Given the description of an element on the screen output the (x, y) to click on. 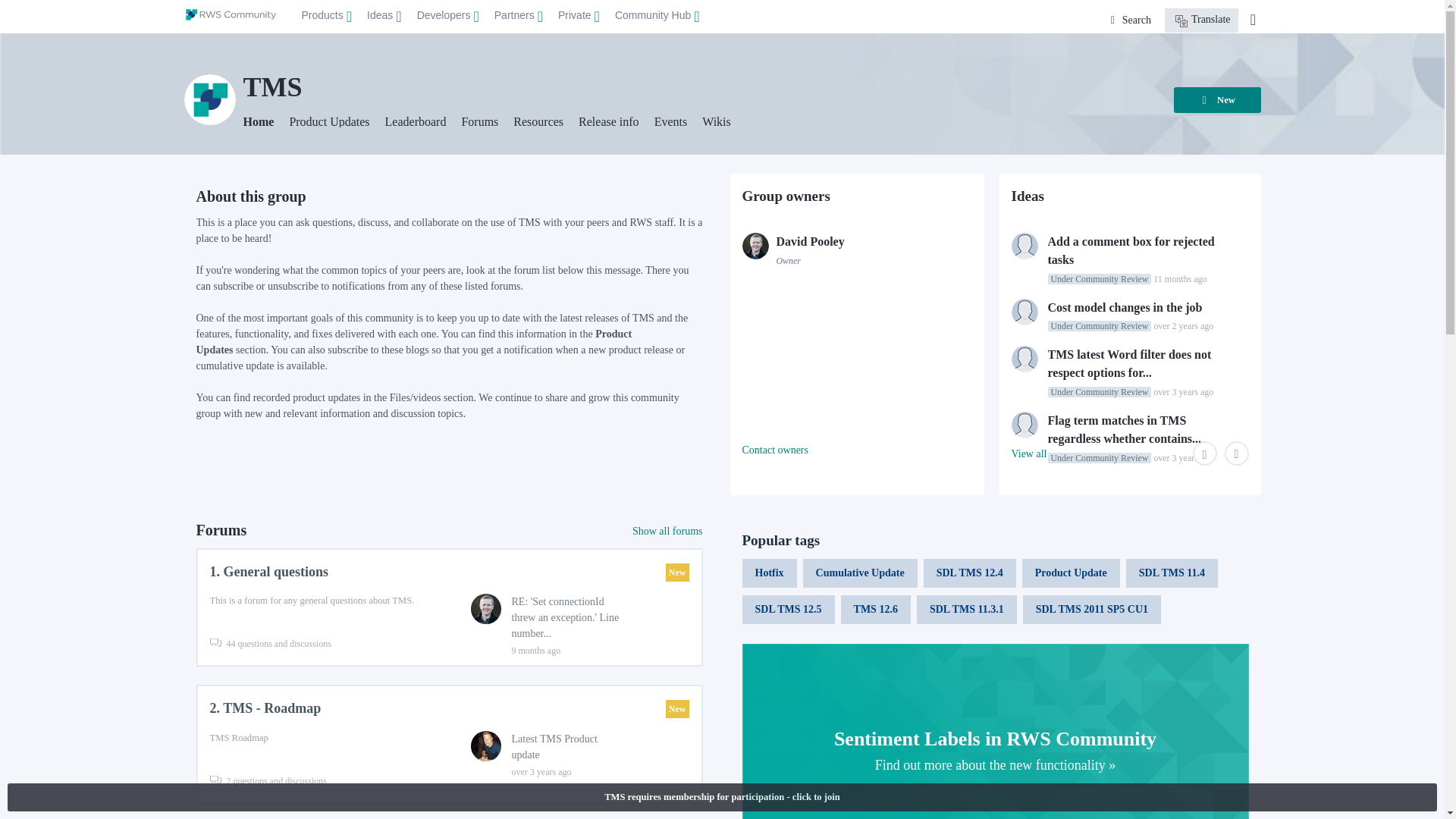
Products (326, 16)
Search (1130, 19)
Products (326, 16)
Ideas (384, 16)
Join or sign in (1252, 19)
Home (230, 14)
Ideas (383, 16)
Go to next page (1235, 453)
